Given the description of an element on the screen output the (x, y) to click on. 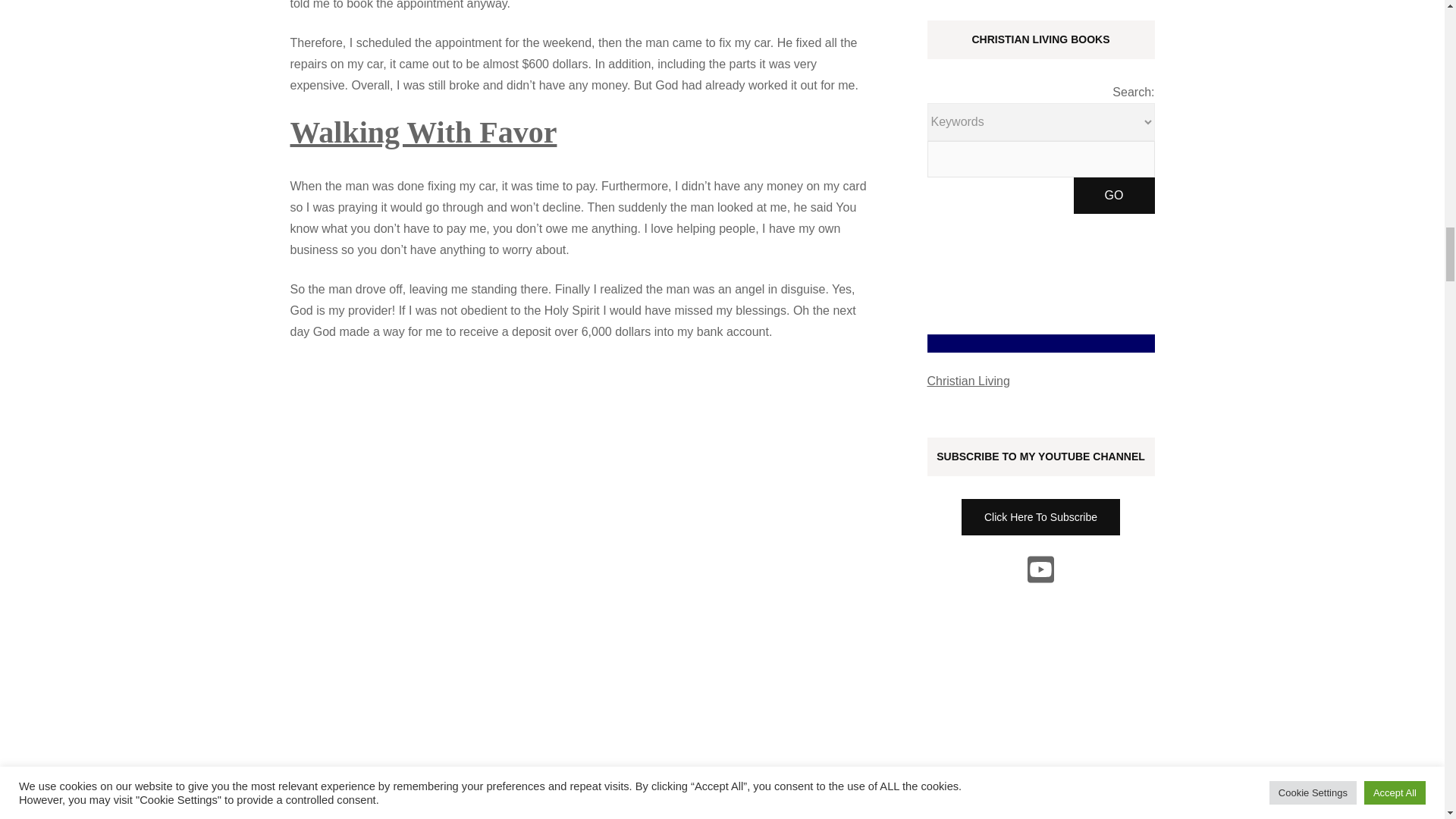
Go (1114, 195)
